Given the description of an element on the screen output the (x, y) to click on. 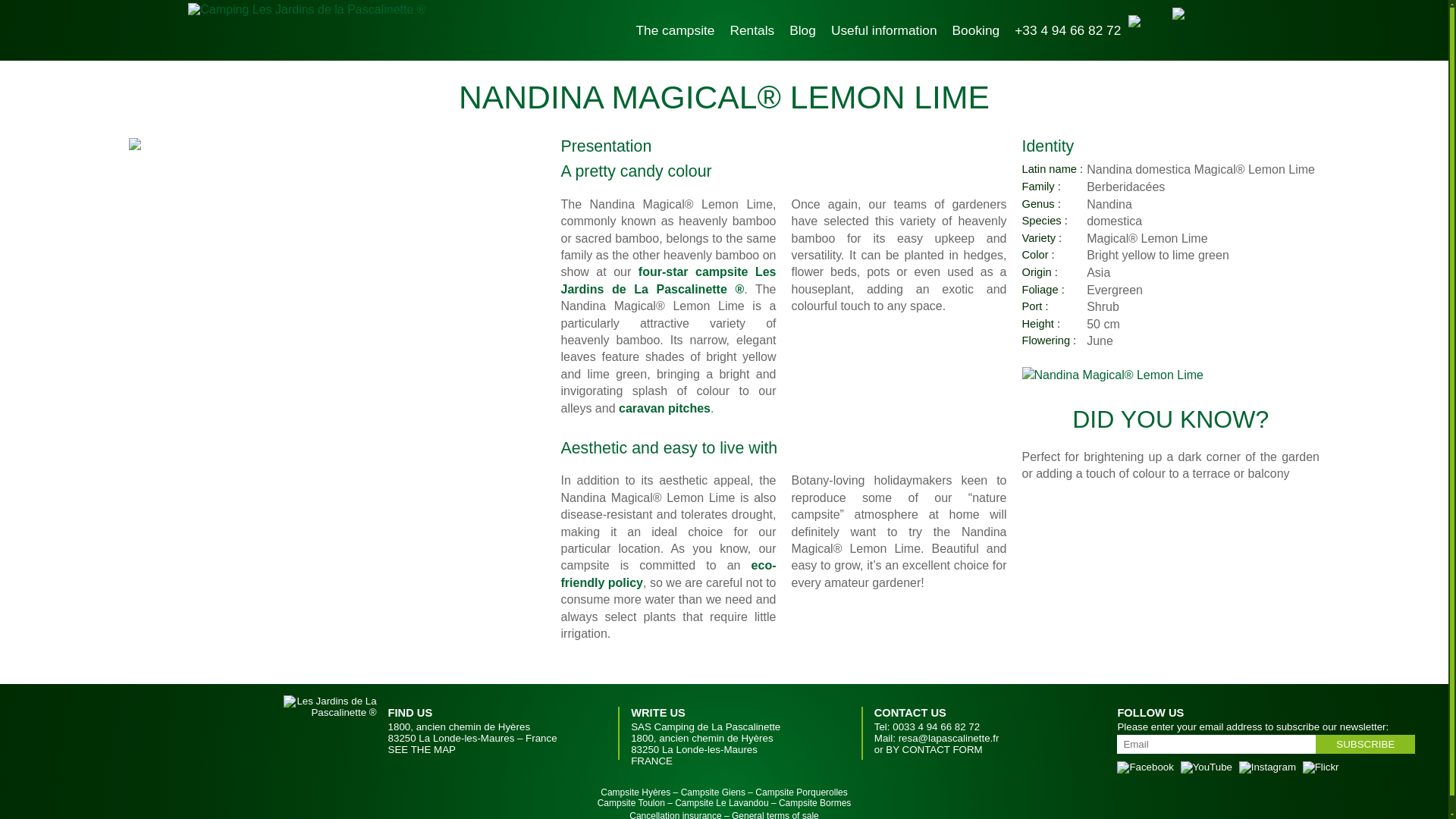
Rentals (751, 30)
Useful information (884, 30)
The campsite (674, 30)
Blog (802, 30)
